Given the description of an element on the screen output the (x, y) to click on. 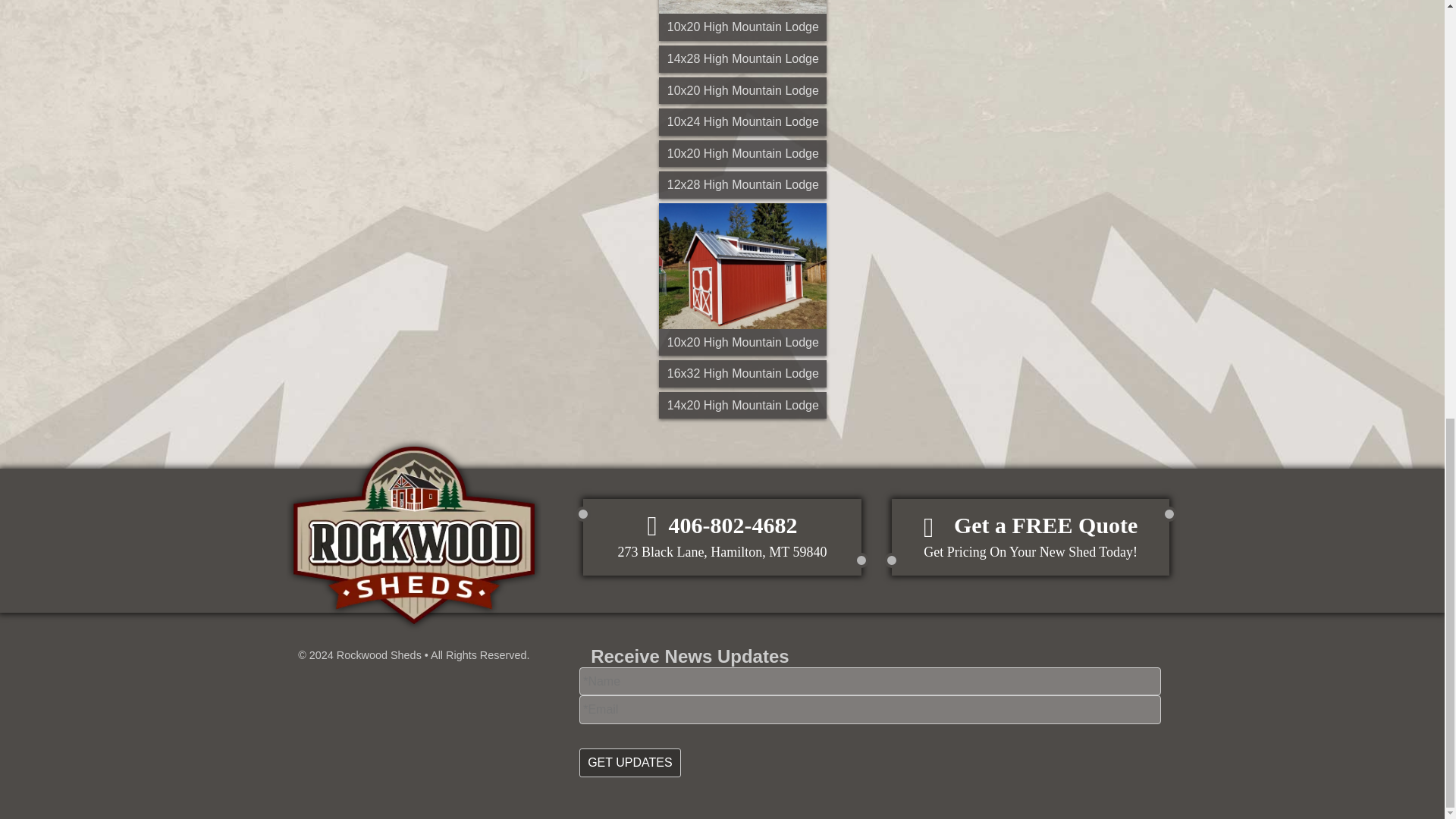
14x28 High Mountain Lodge (743, 58)
16x32 High Mountain Lodge (1030, 536)
10x20 High Mountain Lodge (743, 373)
10x20 High Mountain Lodge (743, 20)
14x20 High Mountain Lodge (743, 20)
10x24 High Mountain Lodge (743, 405)
10x20 High Mountain Lodge (743, 121)
14x28 High Mountain Lodge (743, 90)
